Given the description of an element on the screen output the (x, y) to click on. 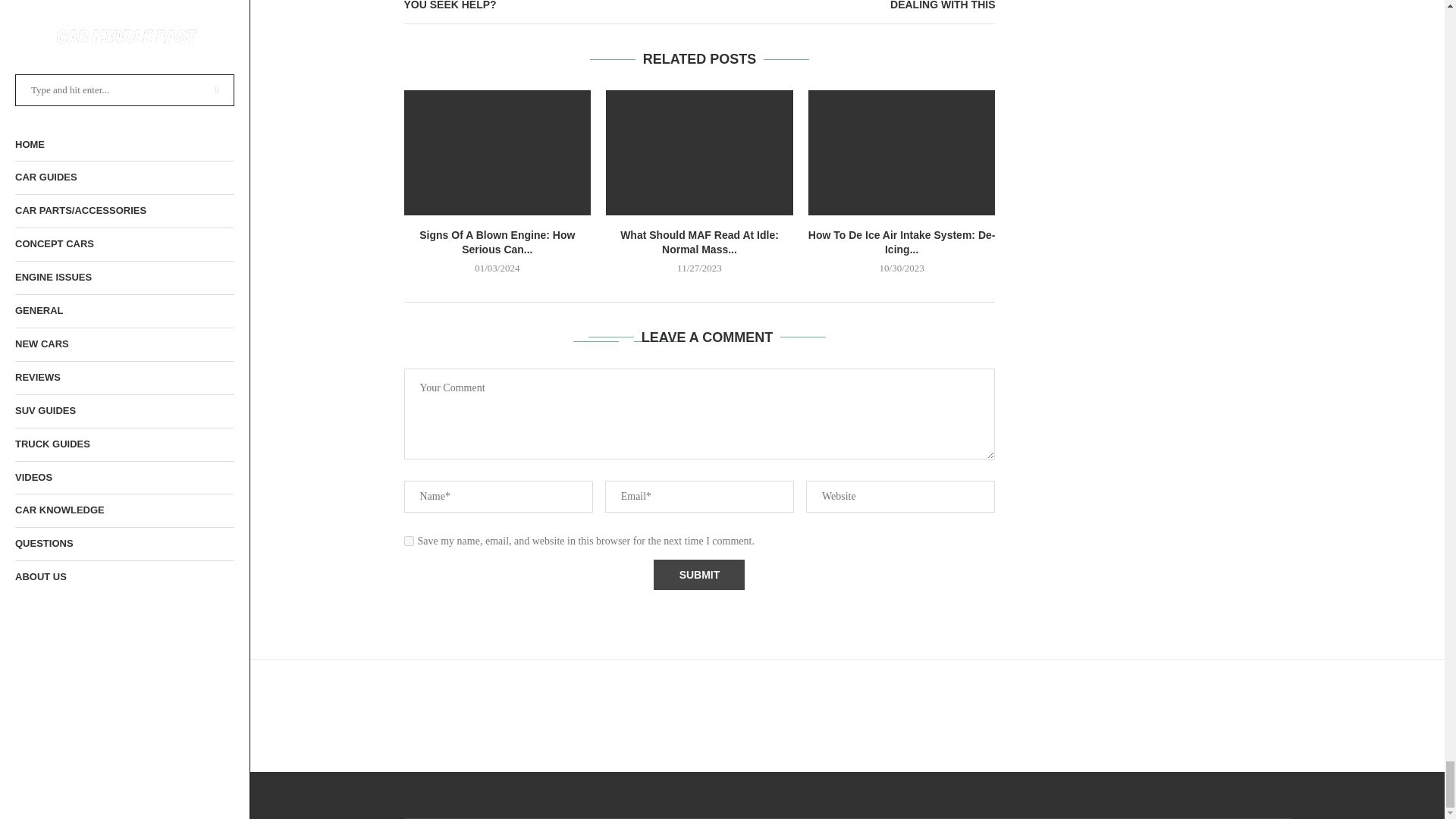
Signs Of A Blown Engine: How Serious Can This Get? (497, 152)
yes (408, 541)
Submit (698, 574)
What Should MAF Read At Idle: Normal Mass Air Flow Reading? (699, 152)
